Given the description of an element on the screen output the (x, y) to click on. 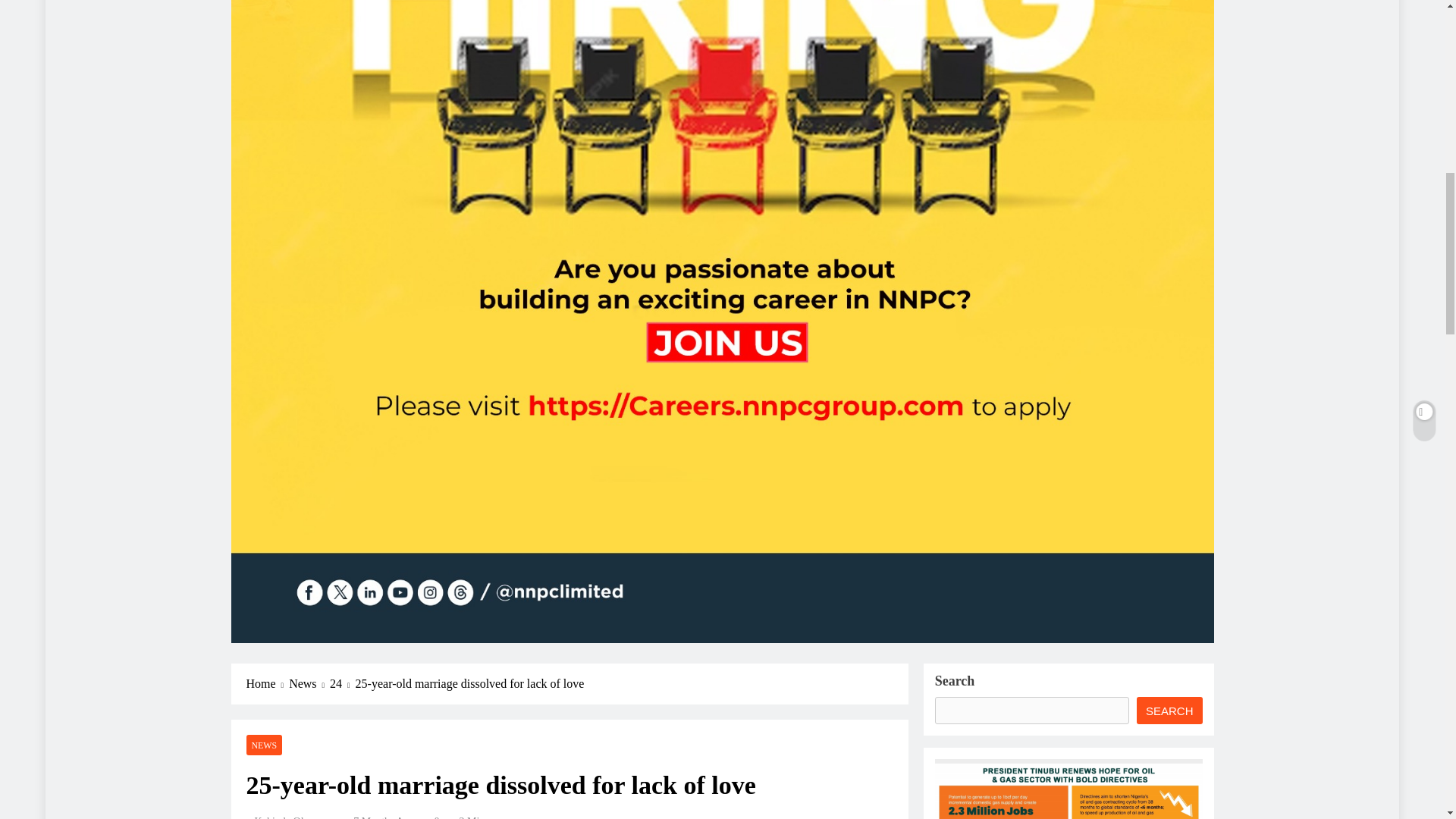
24 (342, 683)
NEWS (264, 744)
News (309, 683)
Kehinde Olusegun (289, 817)
Home (267, 683)
7 Months Ago (383, 817)
